Given the description of an element on the screen output the (x, y) to click on. 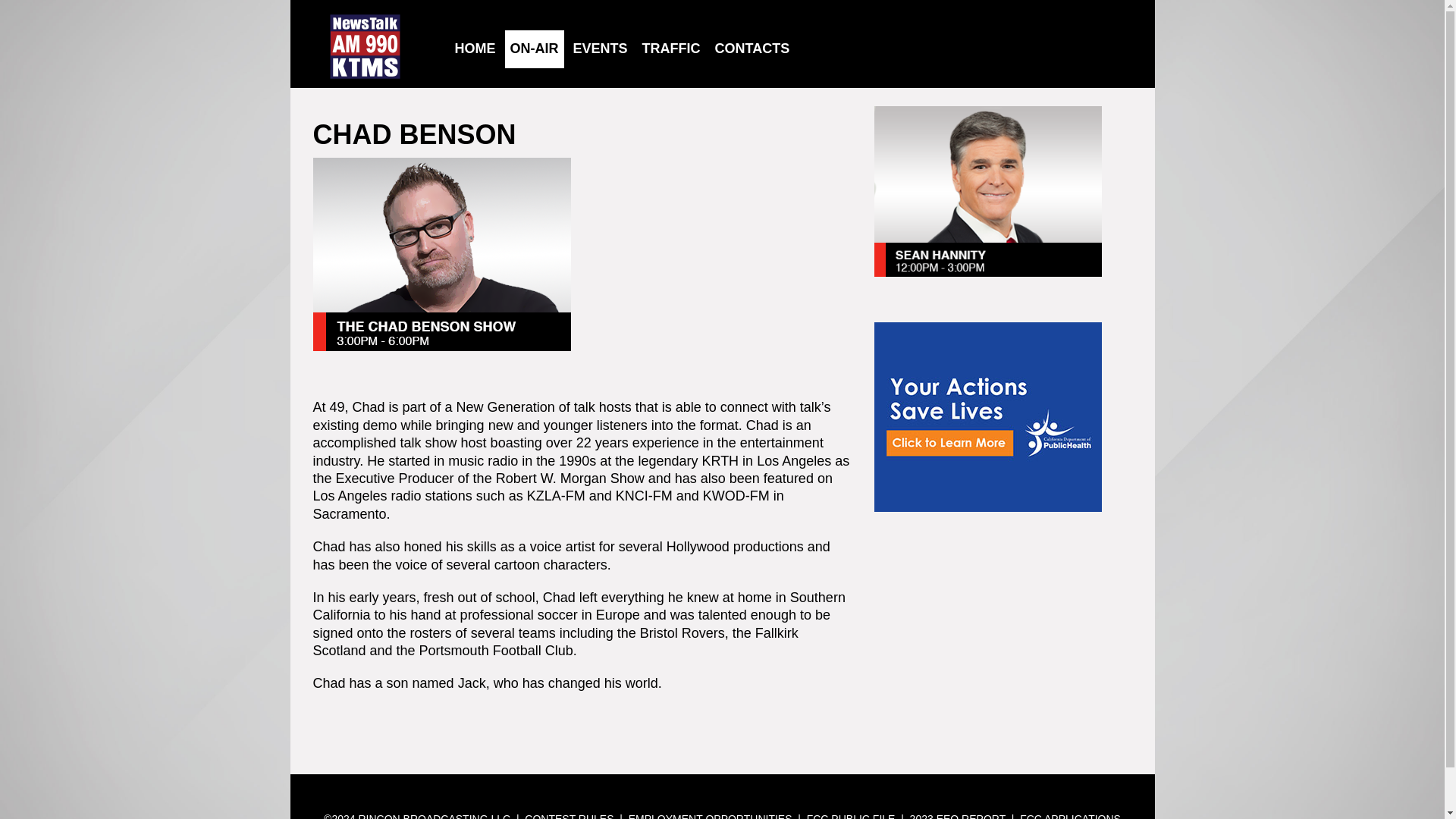
FCC PUBLIC FILE (850, 816)
2023 EEO REPORT (958, 816)
EVENTS (600, 48)
ON-AIR (535, 48)
CONTACTS (752, 48)
TRAFFIC (671, 48)
HOME (475, 48)
EMPLOYMENT OPPORTUNITIES (710, 816)
FCC APPLICATIONS (1070, 816)
CONTEST RULES (568, 816)
